Given the description of an element on the screen output the (x, y) to click on. 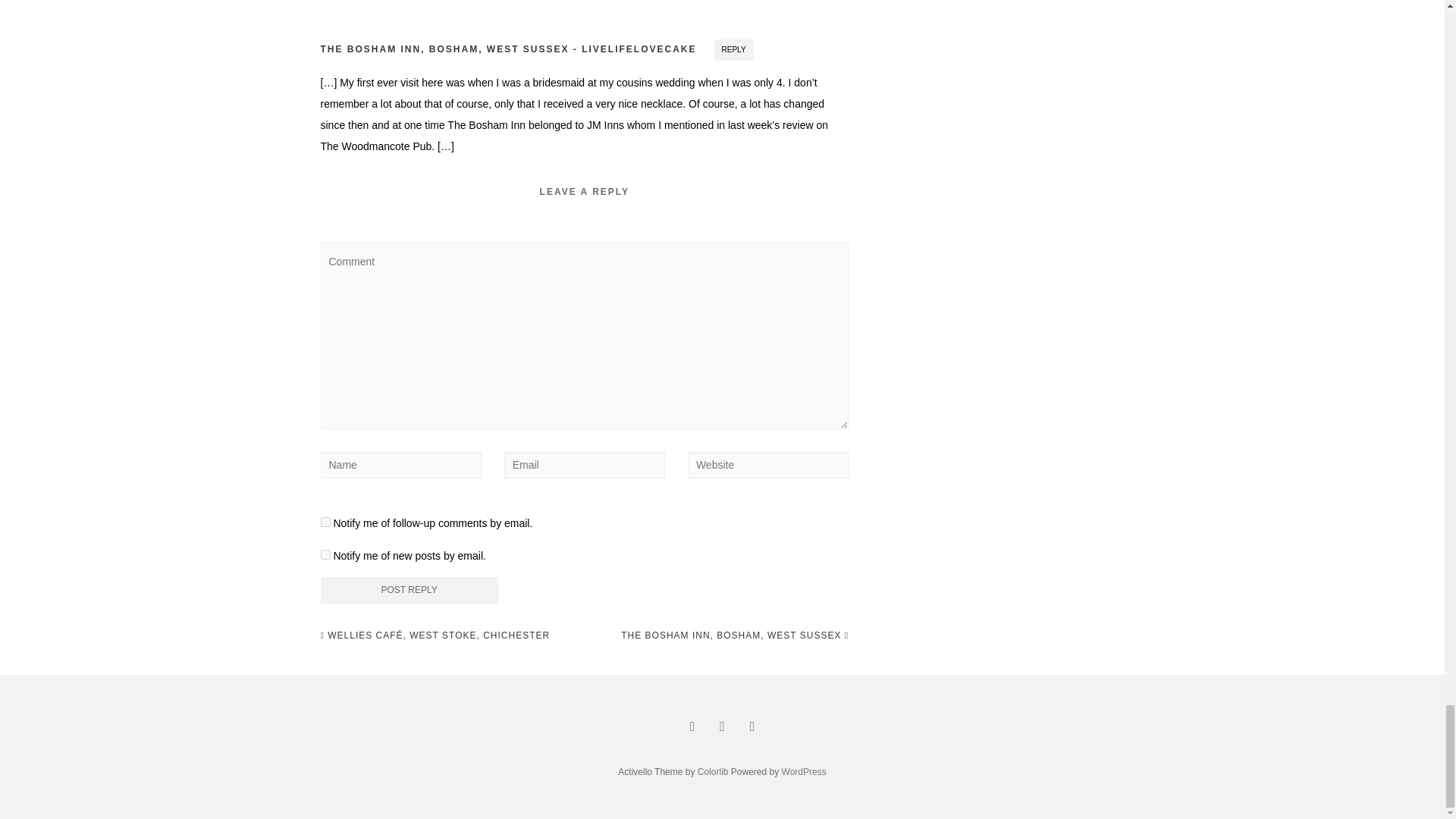
subscribe (325, 521)
Post Reply (408, 590)
subscribe (325, 554)
